Given the description of an element on the screen output the (x, y) to click on. 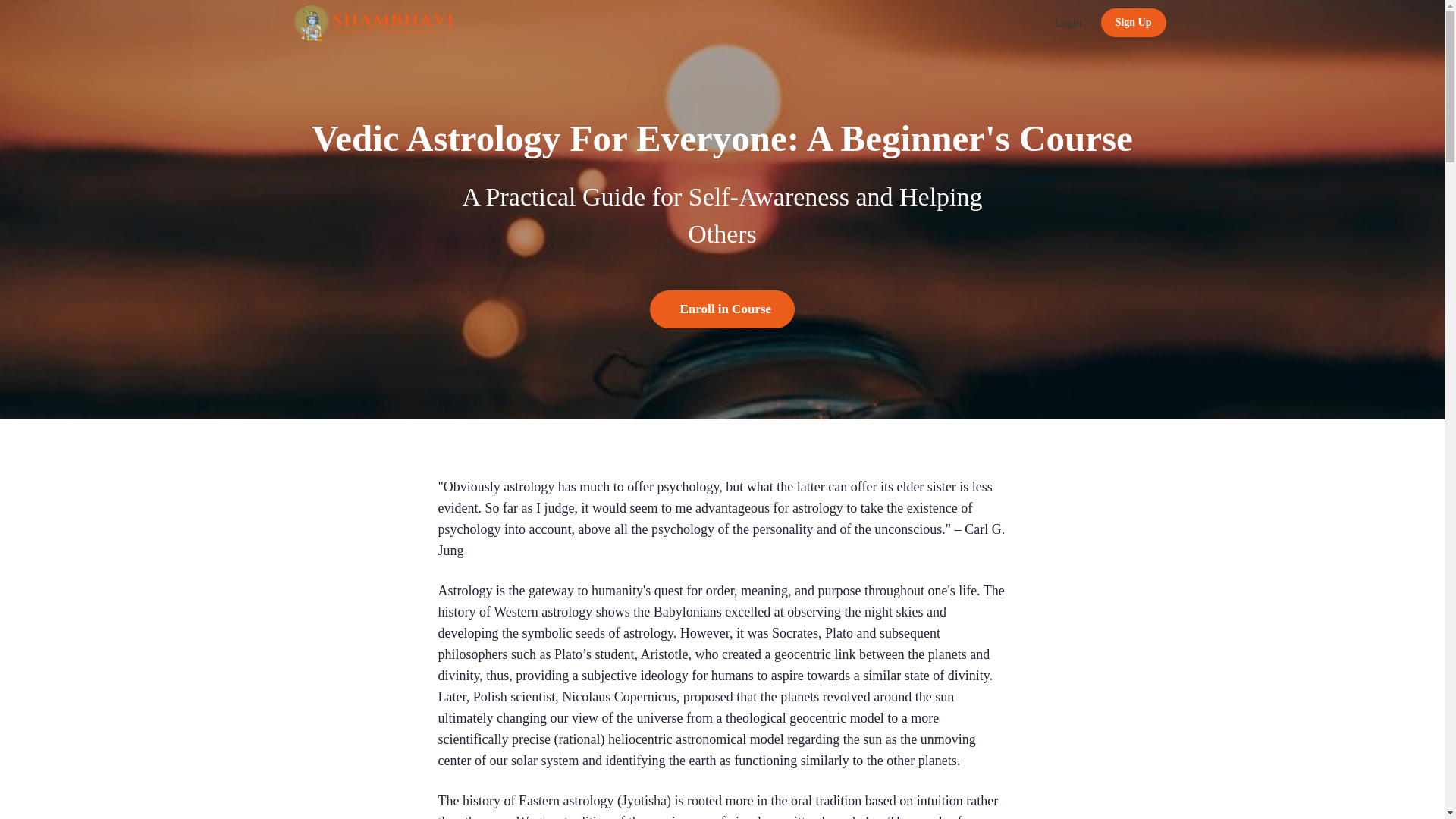
  Enroll in Course (721, 309)
Login (1068, 22)
Sign Up (1133, 22)
  Enroll in Course (721, 309)
